Given the description of an element on the screen output the (x, y) to click on. 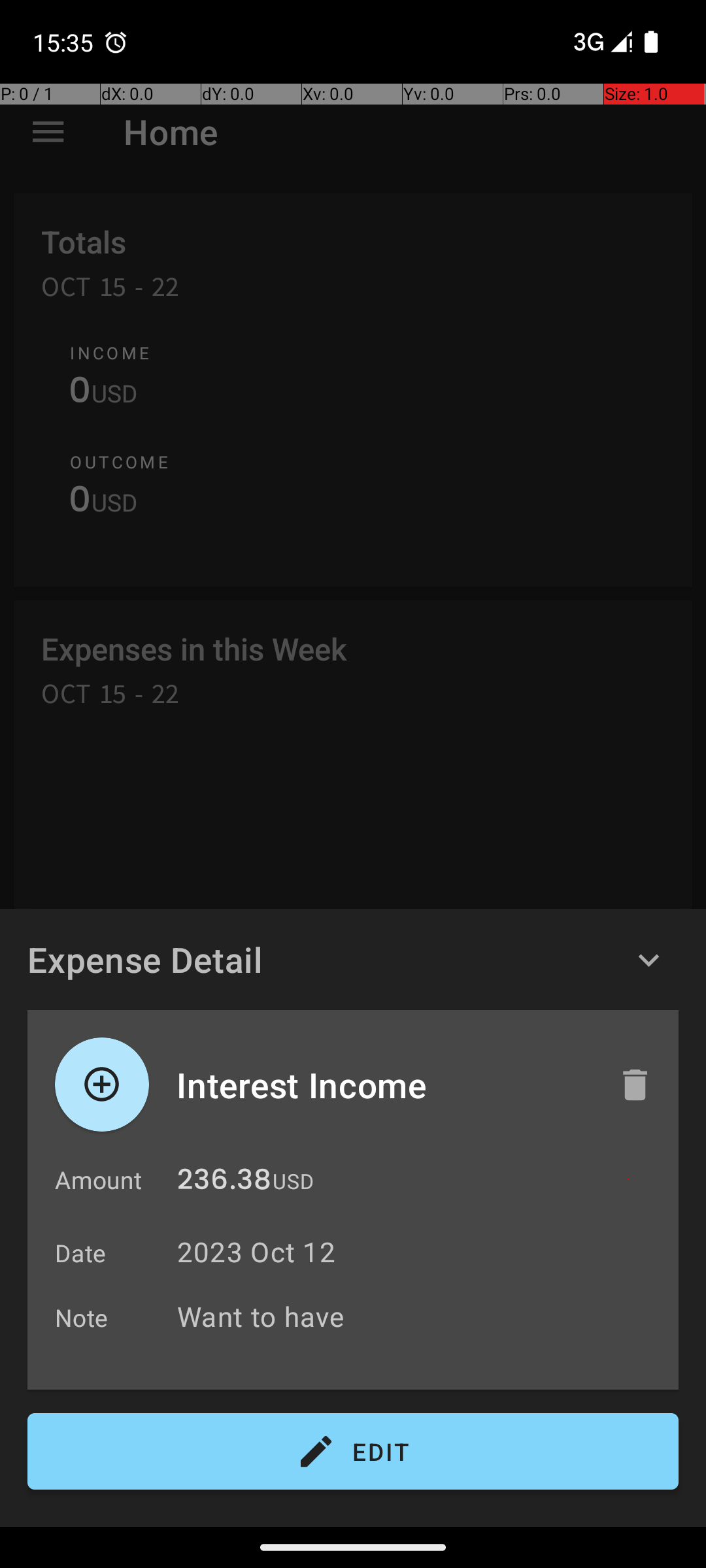
Interest Income Element type: android.widget.TextView (383, 1084)
236.38 Element type: android.widget.TextView (223, 1182)
